Given the description of an element on the screen output the (x, y) to click on. 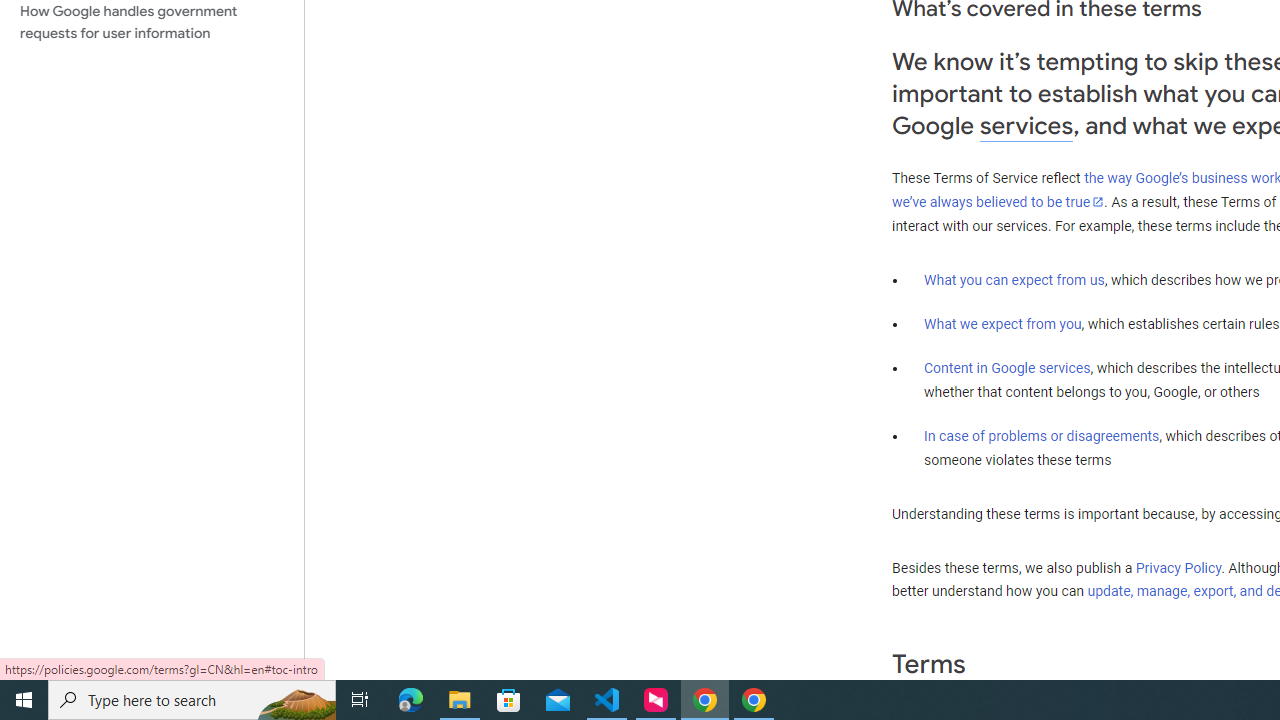
services (1026, 125)
In case of problems or disagreements (1041, 435)
What we expect from you (1002, 323)
What you can expect from us (1014, 279)
Content in Google services (1007, 368)
